Given the description of an element on the screen output the (x, y) to click on. 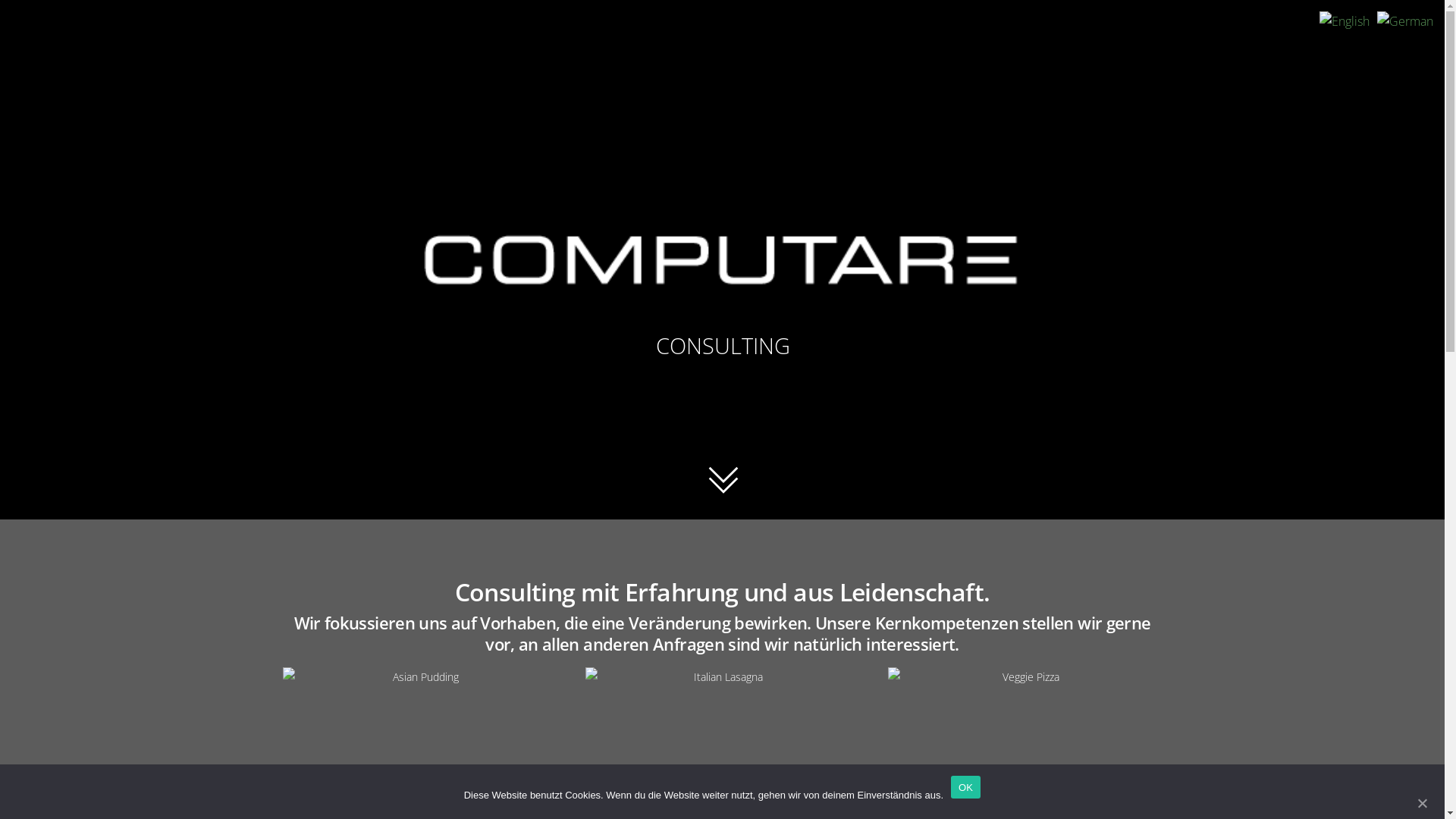
OK Element type: text (965, 786)
Computare Logo negativ Element type: hover (721, 261)
German  Element type: hover (1405, 21)
English  Element type: hover (1344, 21)
